Given the description of an element on the screen output the (x, y) to click on. 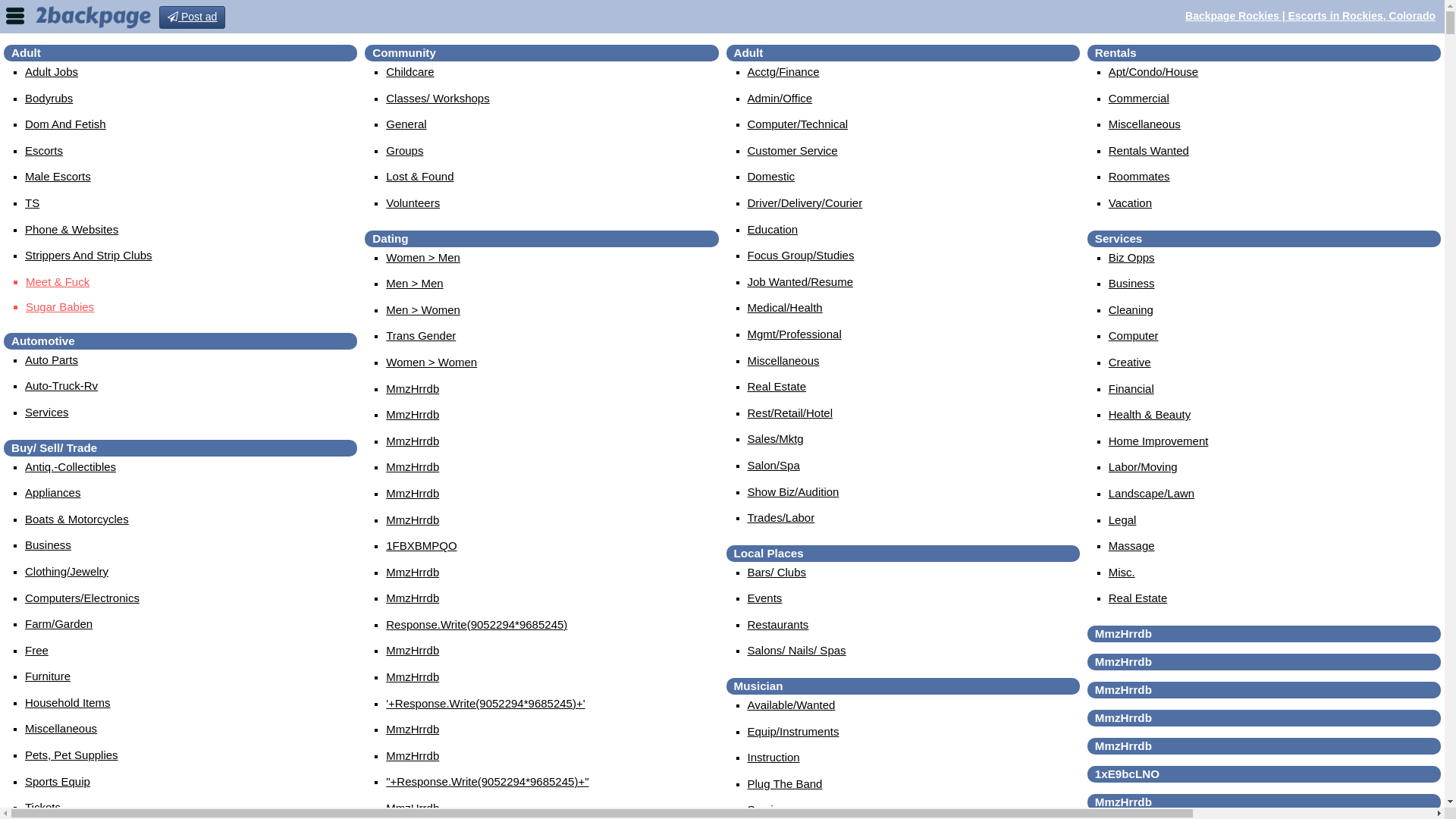
MmzHrrdb Element type: text (412, 388)
Tickets Element type: text (42, 806)
Home Improvement Element type: text (1158, 440)
Miscellaneous Element type: text (1144, 123)
MmzHrrdb Element type: text (412, 518)
MmzHrrdb Element type: text (412, 597)
Childcare Element type: text (409, 71)
MmzHrrdb Element type: text (412, 492)
Computers/Electronics Element type: text (82, 597)
Miscellaneous Element type: text (783, 360)
Job Wanted/Resume Element type: text (800, 281)
Customer Service Element type: text (792, 150)
Salon/Spa Element type: text (773, 464)
Biz Opps Element type: text (1131, 257)
Massage Element type: text (1131, 545)
Business Element type: text (48, 544)
Volunteers Element type: text (412, 202)
MmzHrrdb Element type: text (412, 676)
Services Element type: text (47, 411)
2backpage Element type: hover (93, 15)
Plug The Band Element type: text (784, 783)
Restaurants Element type: text (778, 624)
Appliances Element type: text (52, 492)
Real Estate Element type: text (776, 385)
Adult Jobs Element type: text (51, 71)
Computer Element type: text (1133, 335)
MmzHrrdb Element type: text (412, 413)
MmzHrrdb Element type: text (412, 571)
'+response.Write(9052294*9685245)+' Element type: text (484, 702)
Medical/Health Element type: text (784, 307)
MmzHrrdb Element type: text (412, 807)
Phone & Websites Element type: text (71, 228)
Response.Write(9052294*9685245) Element type: text (476, 624)
MmzHrrdb Element type: text (412, 728)
Real Estate Element type: text (1137, 597)
Miscellaneous Element type: text (61, 727)
Education Element type: text (772, 228)
Labor/Moving Element type: text (1142, 466)
Driver/Delivery/Courier Element type: text (804, 202)
Legal Element type: text (1122, 518)
Equip/Instruments Element type: text (793, 730)
Available/Wanted Element type: text (791, 704)
Backpage Rockies | Escorts in Rockies, Colorado Element type: text (1310, 15)
Financial Element type: text (1131, 388)
Pets, Pet Supplies Element type: text (71, 754)
Misc. Element type: text (1121, 571)
Sports Equip Element type: text (57, 781)
Women > Women Element type: text (430, 361)
Rest/Retail/Hotel Element type: text (790, 412)
Post ad Element type: text (192, 17)
MeeT & FuCk Element type: text (191, 281)
Auto-Truck-Rv Element type: text (61, 385)
Health & Beauty Element type: text (1149, 413)
Farm/Garden Element type: text (58, 623)
Computer/Technical Element type: text (797, 123)
Trades/Labor Element type: text (781, 517)
Free Element type: text (36, 649)
Creative Element type: text (1129, 361)
Acctg/Finance Element type: text (783, 71)
Instruction Element type: text (773, 756)
Groups Element type: text (404, 150)
Vacation Element type: text (1129, 202)
Boats & Motorcycles Element type: text (76, 518)
Trans Gender Element type: text (420, 335)
SugAr BaBies Element type: text (191, 306)
1FBXBMPQO Element type: text (420, 545)
MmzHrrdb Element type: text (412, 649)
Household Items Element type: text (67, 702)
Auto Parts Element type: text (51, 359)
Landscape/Lawn Element type: text (1151, 492)
Commercial Element type: text (1138, 97)
Rentals Wanted Element type: text (1148, 150)
nav Element type: text (15, 15)
Men > Men Element type: text (413, 282)
Cleaning Element type: text (1130, 309)
Male Escorts Element type: text (58, 175)
Admin/Office Element type: text (779, 97)
Furniture Element type: text (47, 675)
General Element type: text (405, 123)
Lost & Found Element type: text (419, 175)
"+response.Write(9052294*9685245)+" Element type: text (486, 781)
Women > Men Element type: text (422, 257)
Strippers And Strip Clubs Element type: text (88, 254)
Services Element type: text (769, 809)
Antiq.-Collectibles Element type: text (70, 466)
Business Element type: text (1131, 282)
Events Element type: text (764, 597)
Focus Group/Studies Element type: text (800, 254)
MmzHrrdb Element type: text (412, 466)
Dom And Fetish Element type: text (65, 123)
Mgmt/Professional Element type: text (794, 333)
Bars/ Clubs Element type: text (776, 571)
Domestic Element type: text (771, 175)
Clothing/Jewelry Element type: text (66, 570)
Classes/ Workshops Element type: text (437, 97)
Sales/Mktg Element type: text (775, 438)
Bodyrubs Element type: text (48, 97)
Apt/Condo/House Element type: text (1153, 71)
Men > Women Element type: text (422, 309)
Salons/ Nails/ Spas Element type: text (796, 649)
Roommates Element type: text (1139, 175)
Show Biz/Audition Element type: text (793, 491)
MmzHrrdb Element type: text (412, 440)
MmzHrrdb Element type: text (412, 755)
TS Element type: text (32, 202)
Escorts Element type: text (43, 150)
